Given the description of an element on the screen output the (x, y) to click on. 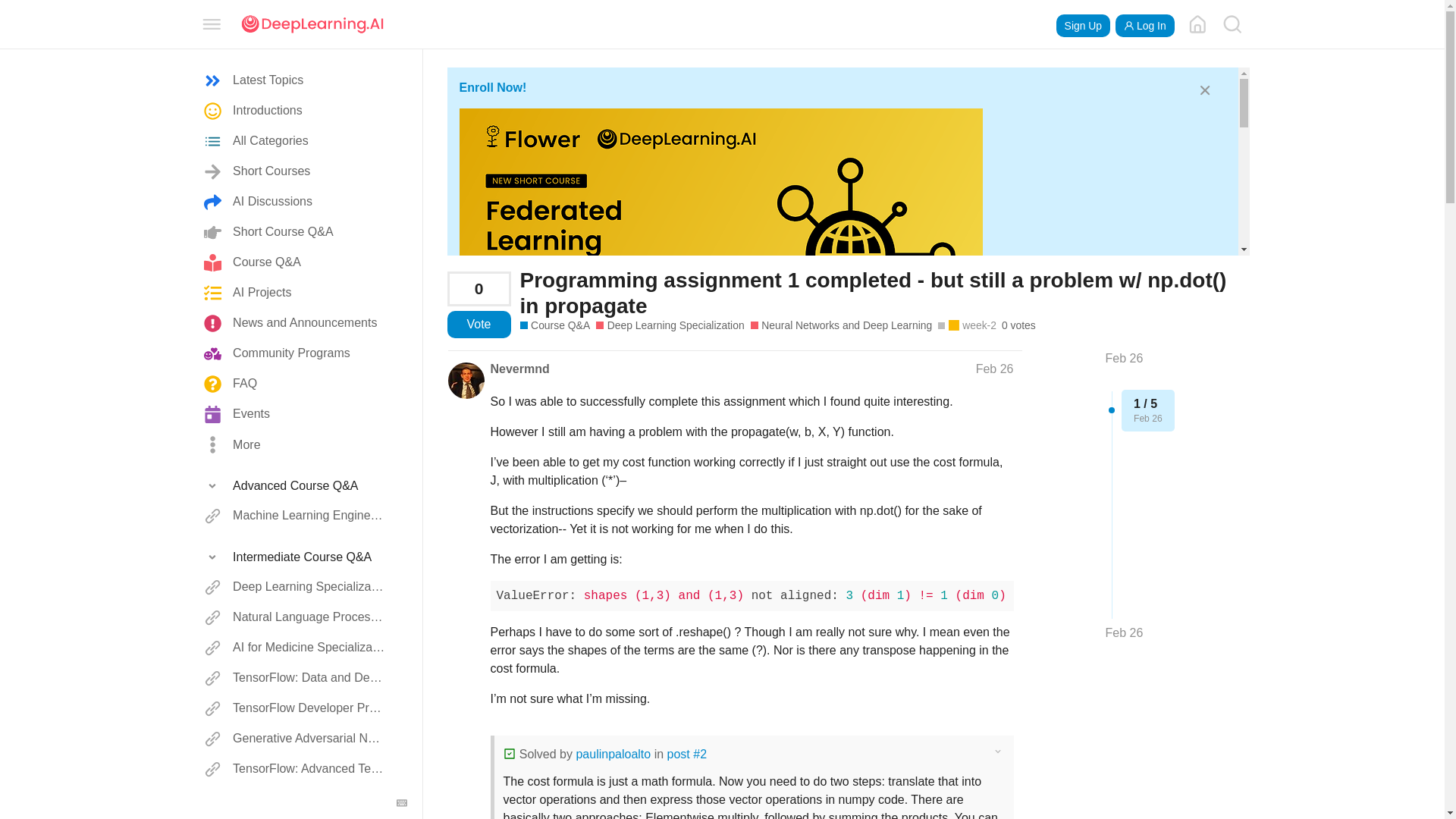
News and Announcements (296, 323)
Ask questions related to DeepLearning.AI courses (555, 325)
:star2: (467, 685)
Sign Up (1083, 25)
All topics (296, 81)
Toggle section (296, 485)
Events (296, 414)
Sidebar (211, 23)
Introductions (296, 111)
Deep Learning Specialization (296, 587)
Latest Topics (296, 81)
AI for Medicine Specialization (296, 648)
AI Discussions (296, 202)
Search (1231, 23)
Short Courses (296, 172)
